Given the description of an element on the screen output the (x, y) to click on. 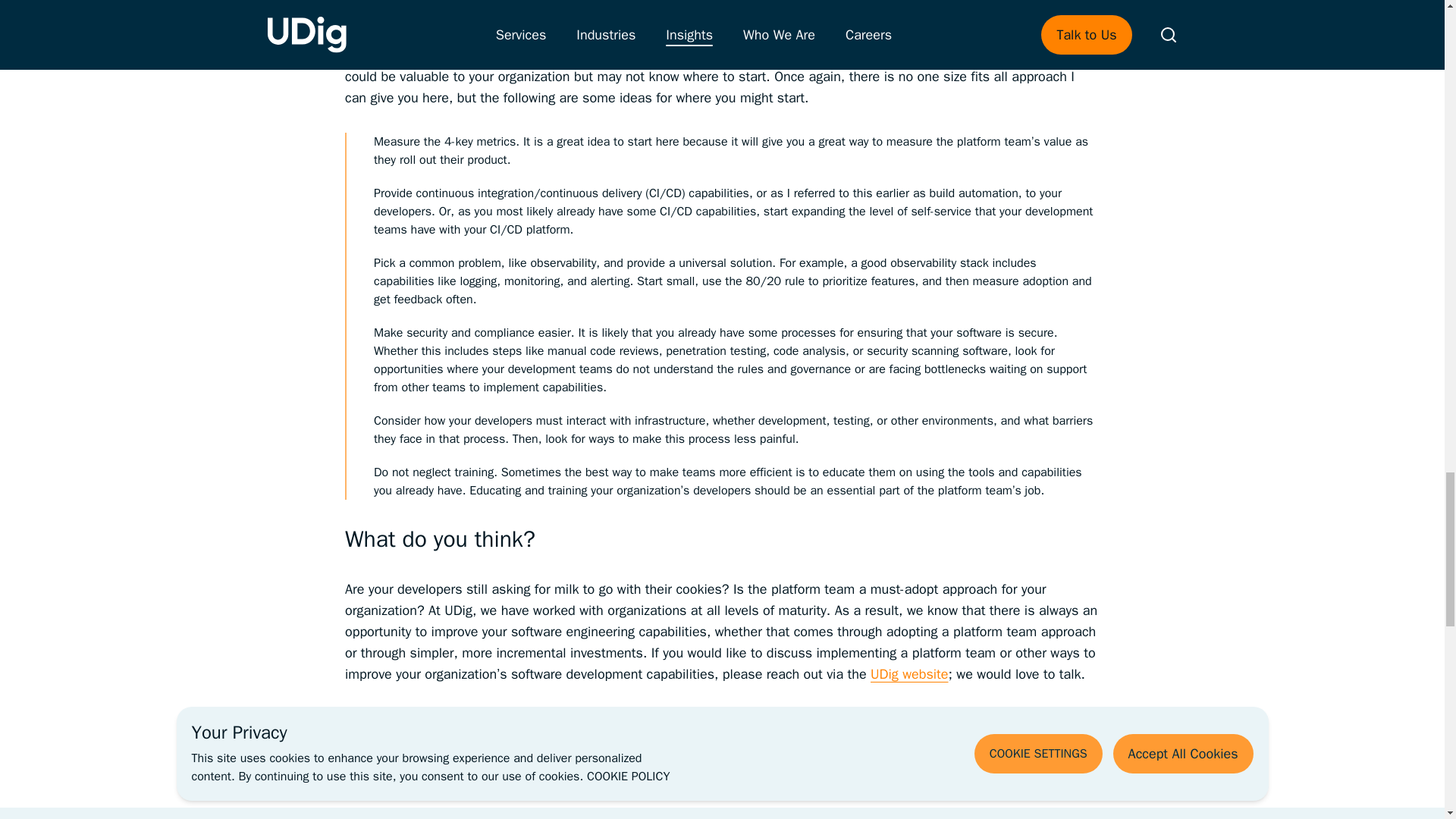
UDig website (908, 673)
